Given the description of an element on the screen output the (x, y) to click on. 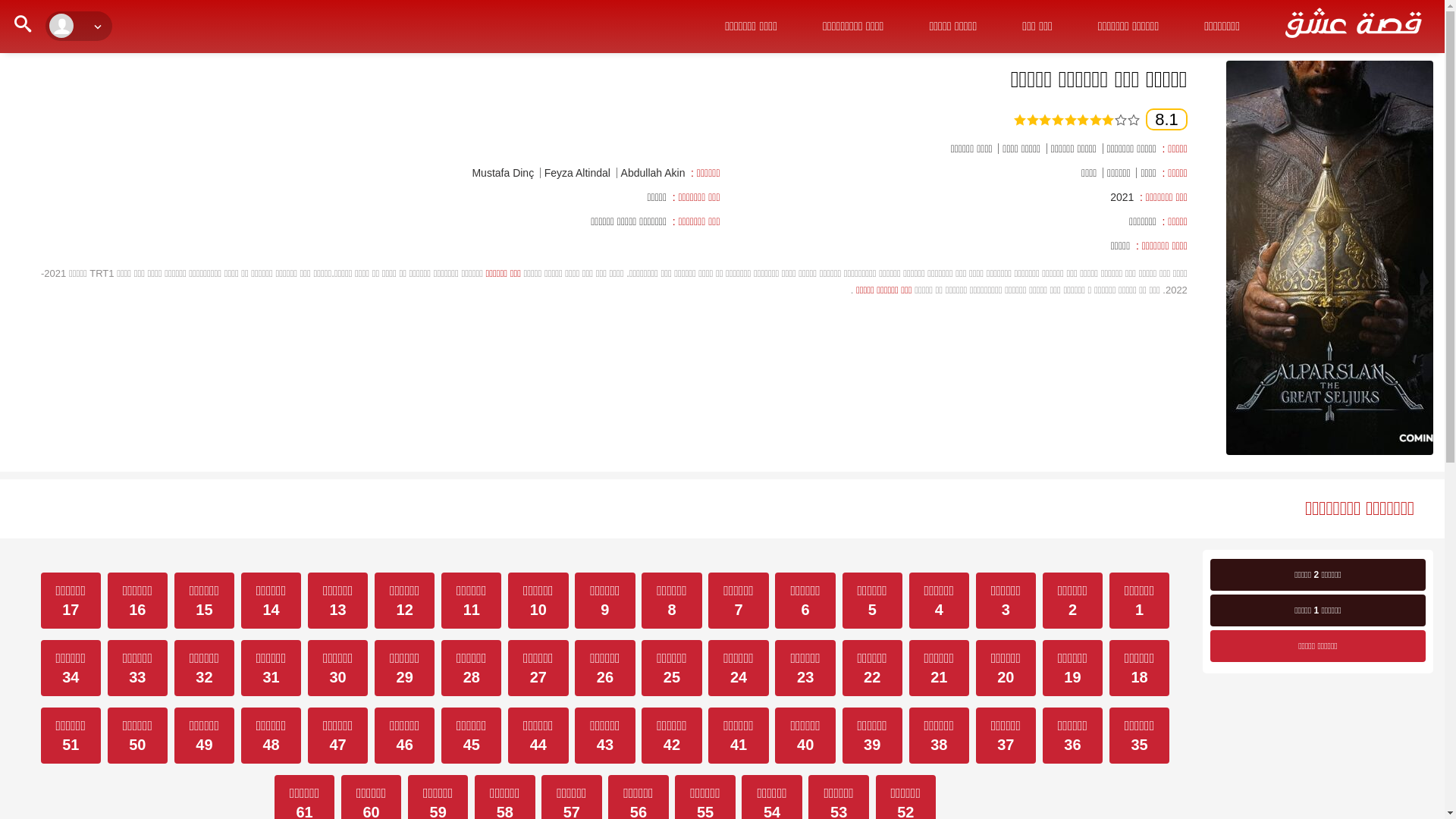
Feyza Altindal Element type: text (577, 172)
Abdullah Akin Element type: text (653, 172)
2021 Element type: text (1121, 196)
